Given the description of an element on the screen output the (x, y) to click on. 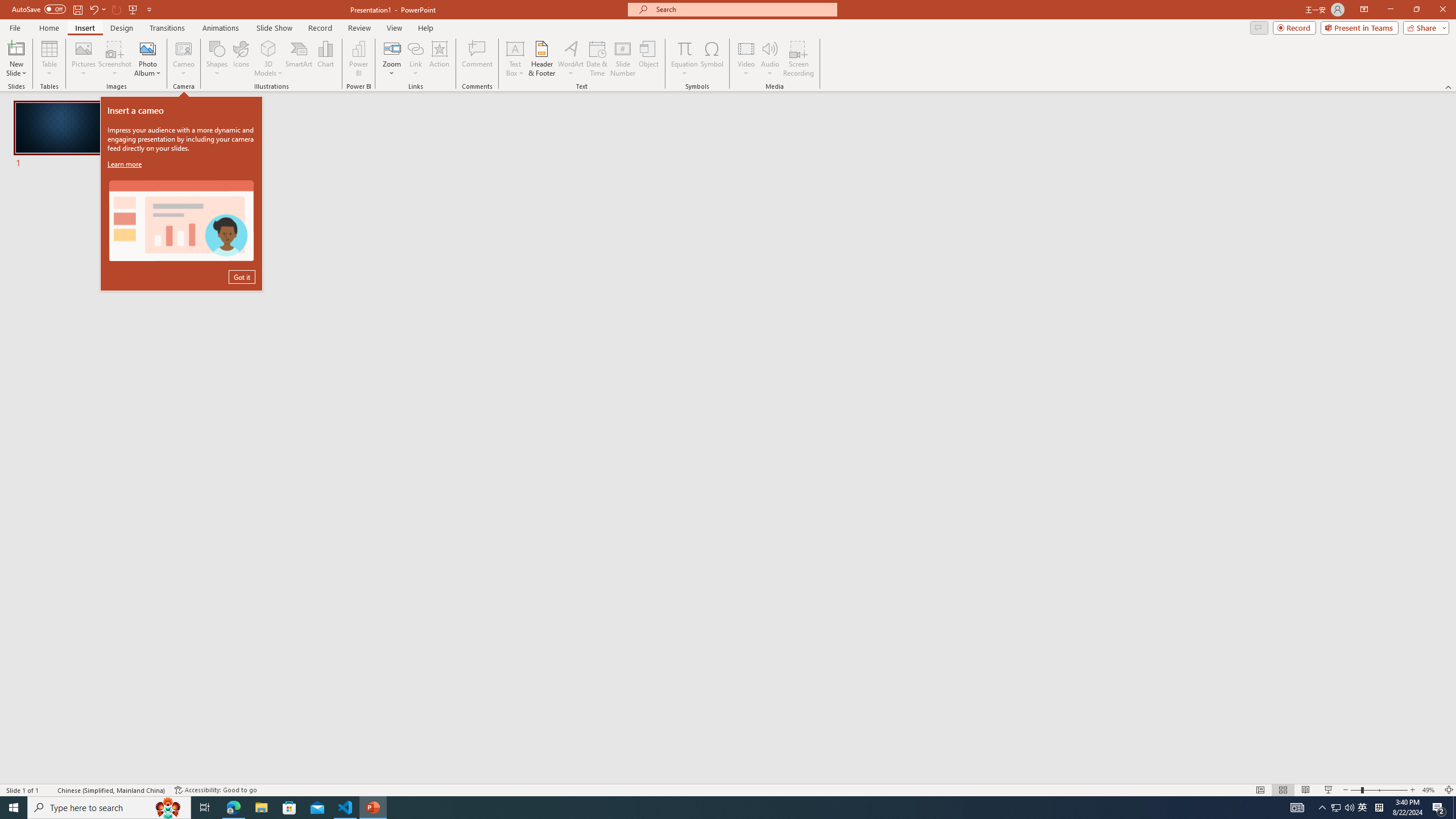
Table (49, 58)
New Photo Album... (147, 48)
Video (745, 58)
